Given the description of an element on the screen output the (x, y) to click on. 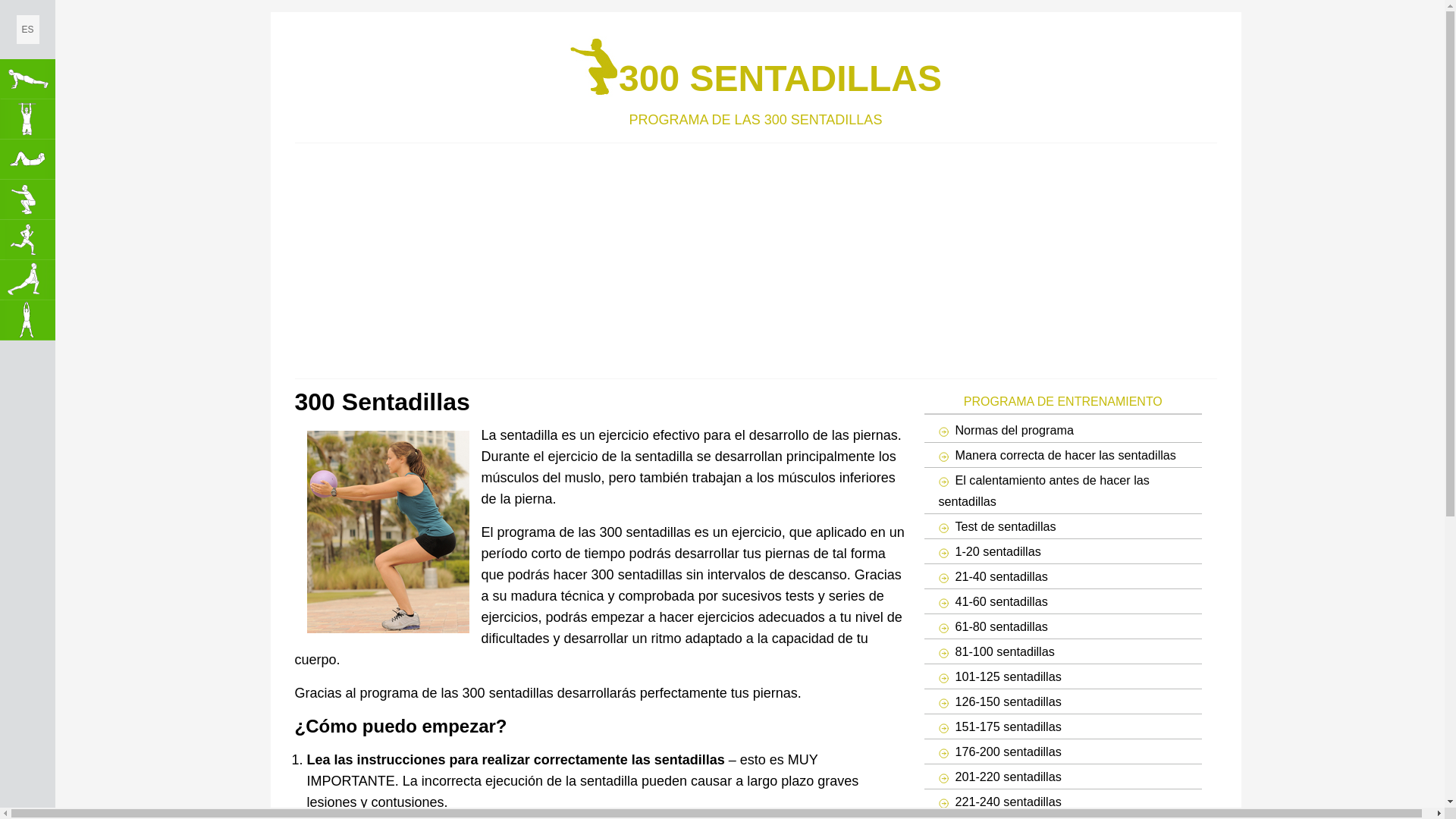
81-100 sentadillas Element type: text (1062, 651)
Corre 40 minutos Element type: hover (27, 239)
Test de sentadillas Element type: text (1062, 526)
201-220 sentadillas Element type: text (1062, 776)
41-60 sentadillas Element type: text (1062, 601)
221-240 sentadillas Element type: text (1062, 801)
300 SENTADILLAS Element type: text (755, 66)
151-175 sentadillas Element type: text (1062, 726)
176-200 sentadillas Element type: text (1062, 751)
21-40 sentadillas Element type: text (1062, 576)
50 Dominadas Element type: hover (27, 119)
1-20 sentadillas Element type: text (1062, 551)
300 Sentadillas Element type: hover (27, 199)
61-80 sentadillas Element type: text (1062, 626)
100 Flexiones de Brazos Element type: hover (27, 79)
Haga Calentamiento Element type: hover (27, 320)
101-125 sentadillas Element type: text (1062, 676)
ES Element type: text (27, 29)
Advertisement Element type: hover (480, 256)
126-150 sentadillas Element type: text (1062, 701)
El calentamiento antes de hacer las sentadillas Element type: text (1062, 490)
300 Abdominales Element type: hover (27, 159)
Normas del programa Element type: text (1062, 429)
Haga Estiramientos Element type: hover (27, 280)
Manera correcta de hacer las sentadillas Element type: text (1062, 454)
